Given the description of an element on the screen output the (x, y) to click on. 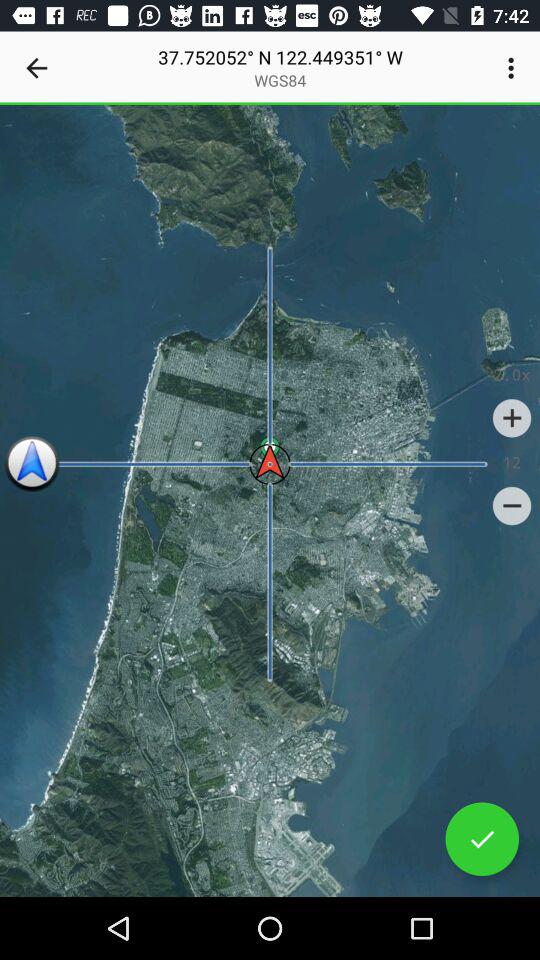
confirm target (482, 839)
